Given the description of an element on the screen output the (x, y) to click on. 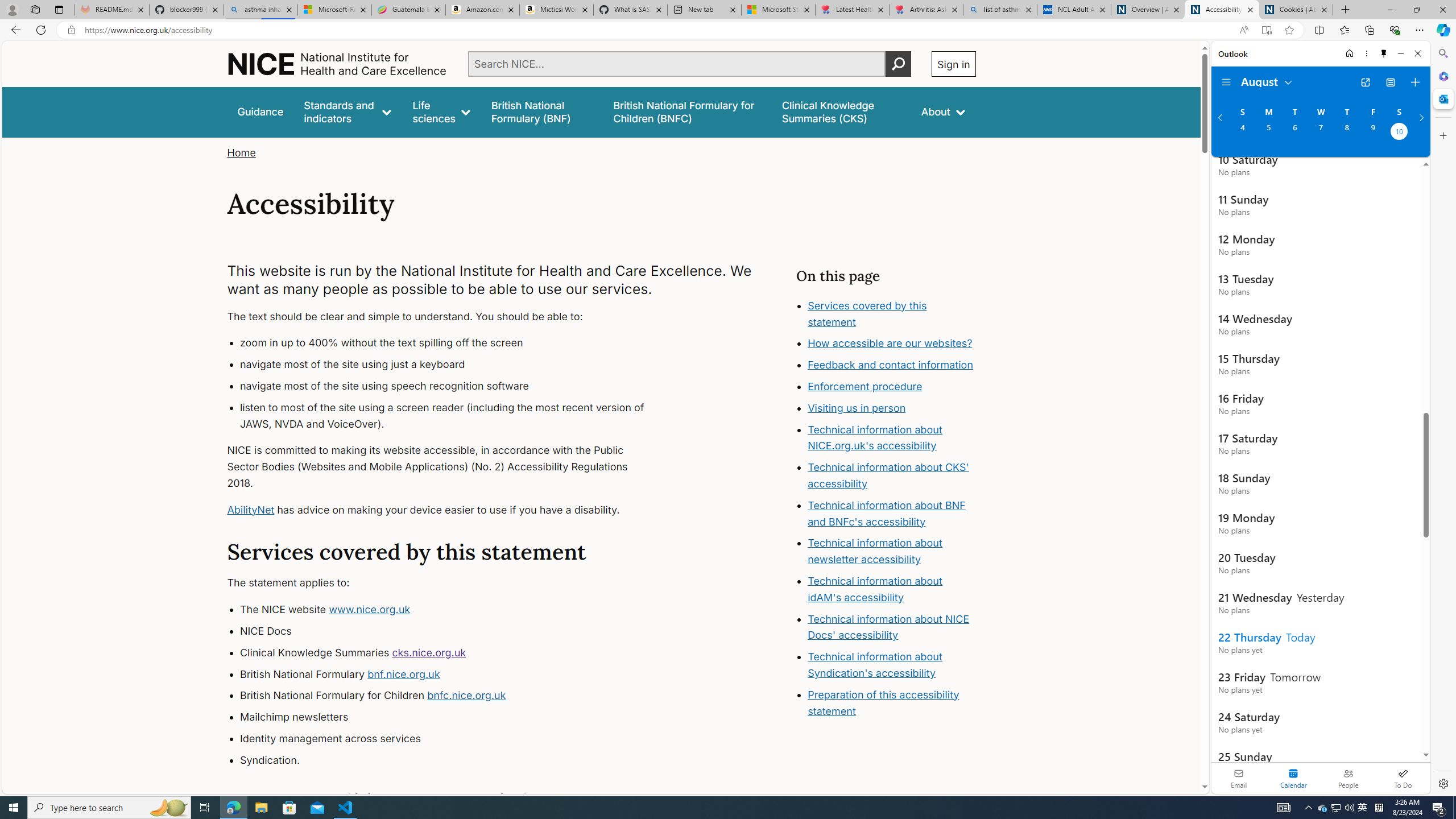
bnf.nice.org.uk (402, 673)
Technical information about idAM's accessibility (875, 588)
Services covered by this statement (891, 313)
Perform search (898, 63)
Technical information about Syndication's accessibility (875, 664)
To Do (1402, 777)
